Given the description of an element on the screen output the (x, y) to click on. 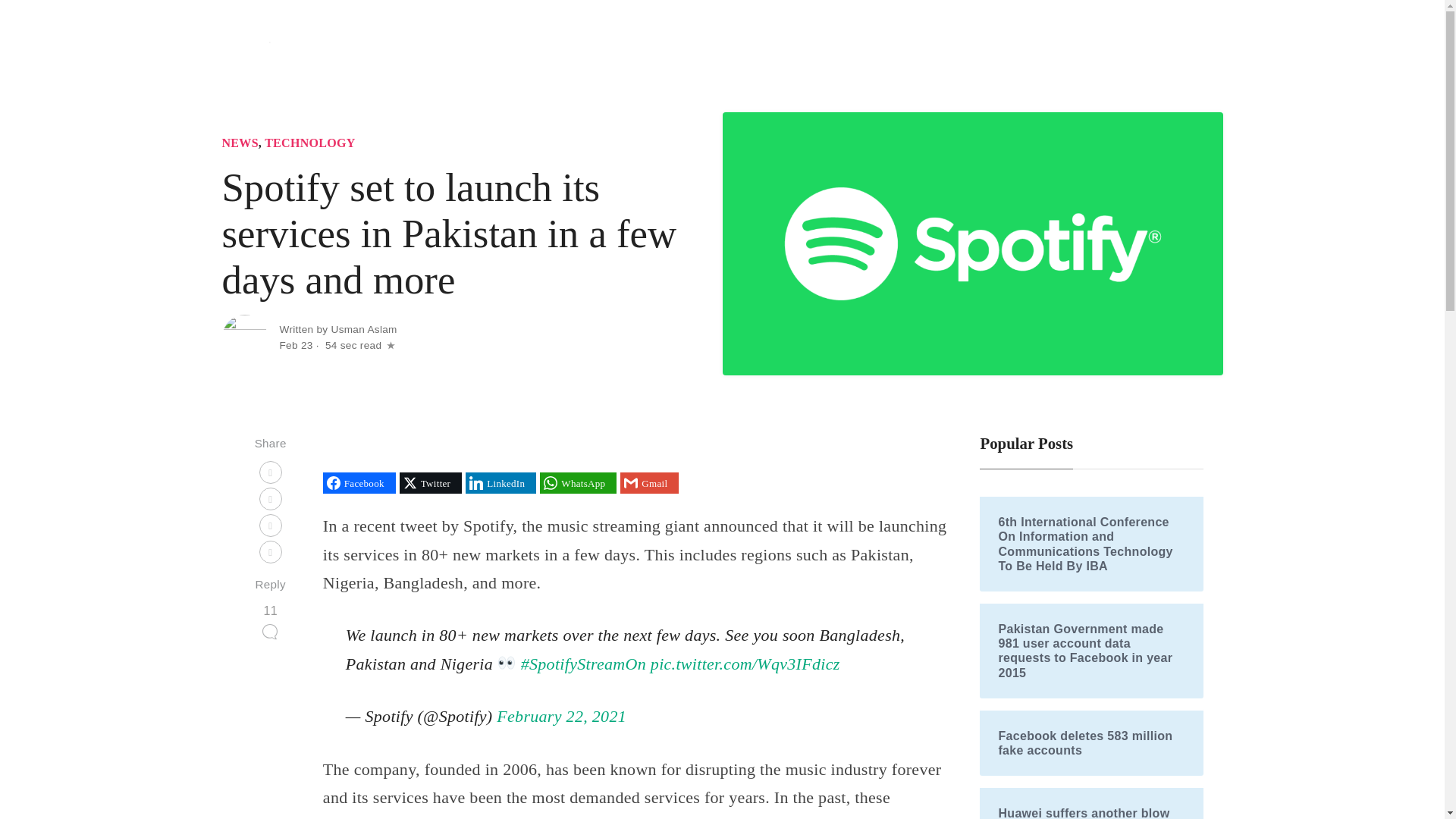
Share on Gmail (649, 482)
Twitter (429, 482)
Writers (1192, 49)
NEWS (239, 142)
11 (270, 620)
Written by Usman Aslam (337, 328)
TECHNOLOGY (309, 142)
Share on WhatsApp (577, 482)
Startups (914, 49)
Mobile (972, 49)
Investment (1037, 49)
Online Earning (1116, 49)
Share on Facebook (359, 482)
Facebook (359, 482)
Share on LinkedIn (500, 482)
